Given the description of an element on the screen output the (x, y) to click on. 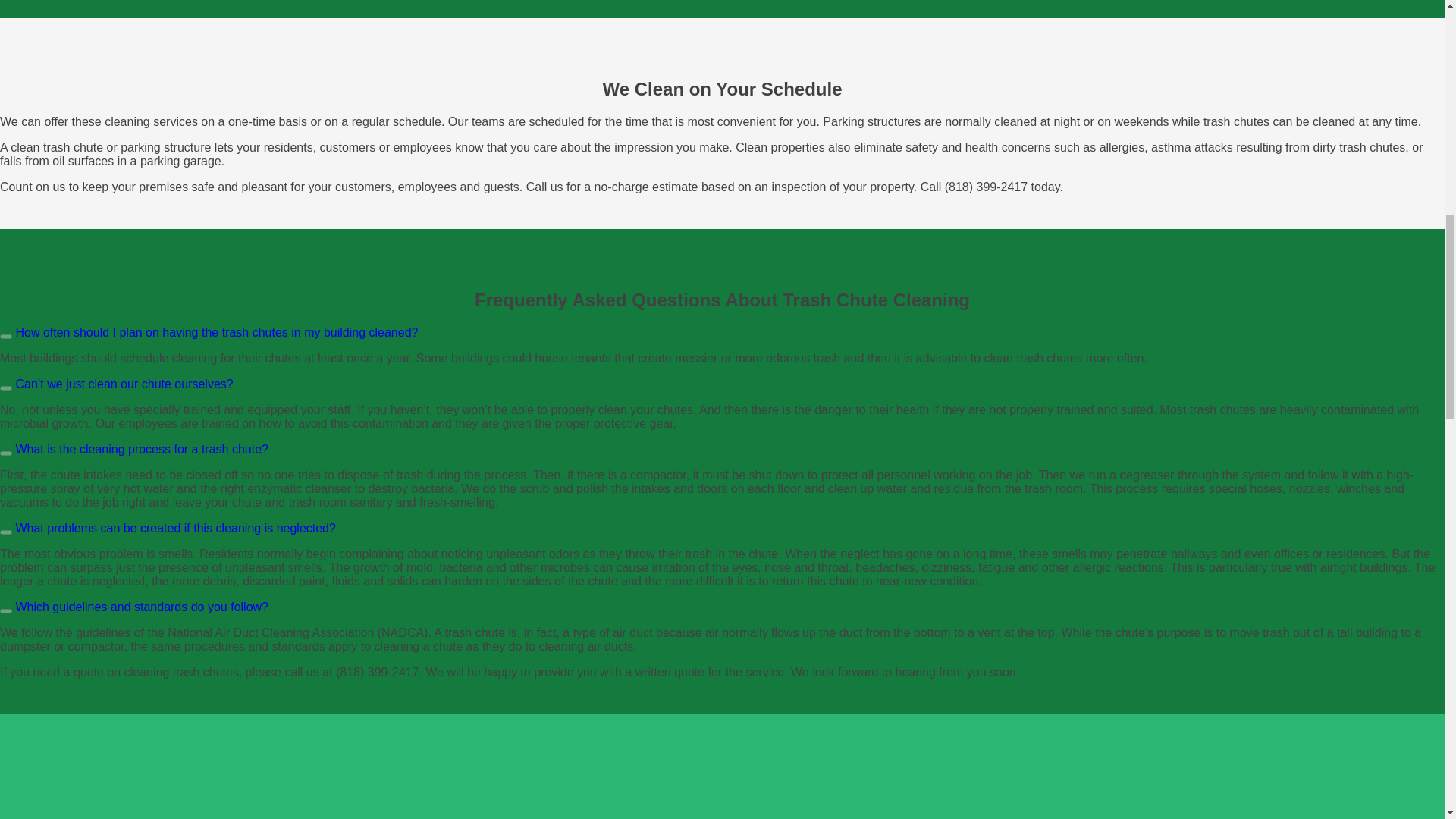
What problems can be created if this cleaning is neglected? (168, 527)
Which guidelines and standards do you follow? (133, 606)
What is the cleaning process for a trash chute? (133, 449)
